Given the description of an element on the screen output the (x, y) to click on. 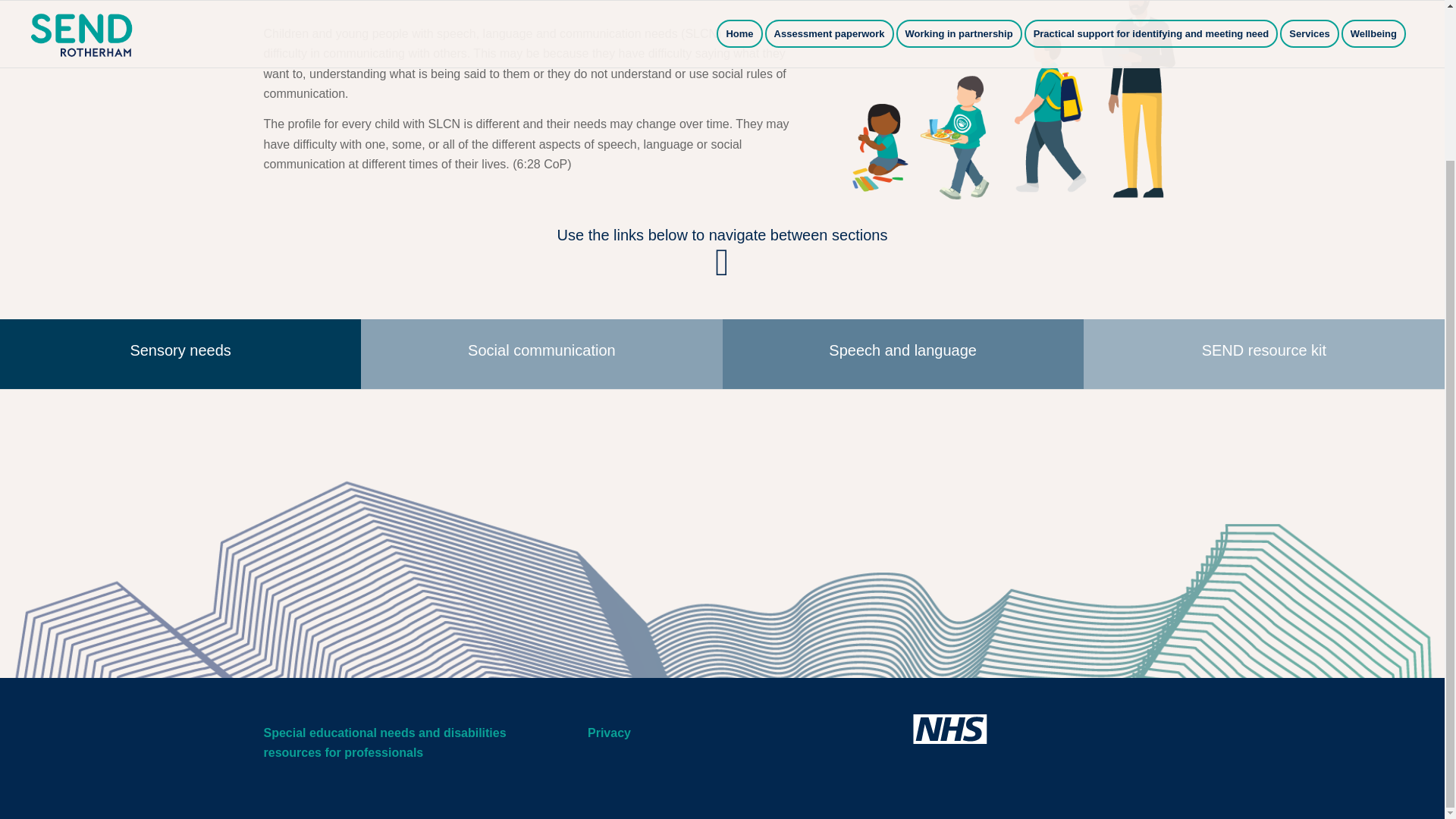
practical-support (1013, 101)
